Given the description of an element on the screen output the (x, y) to click on. 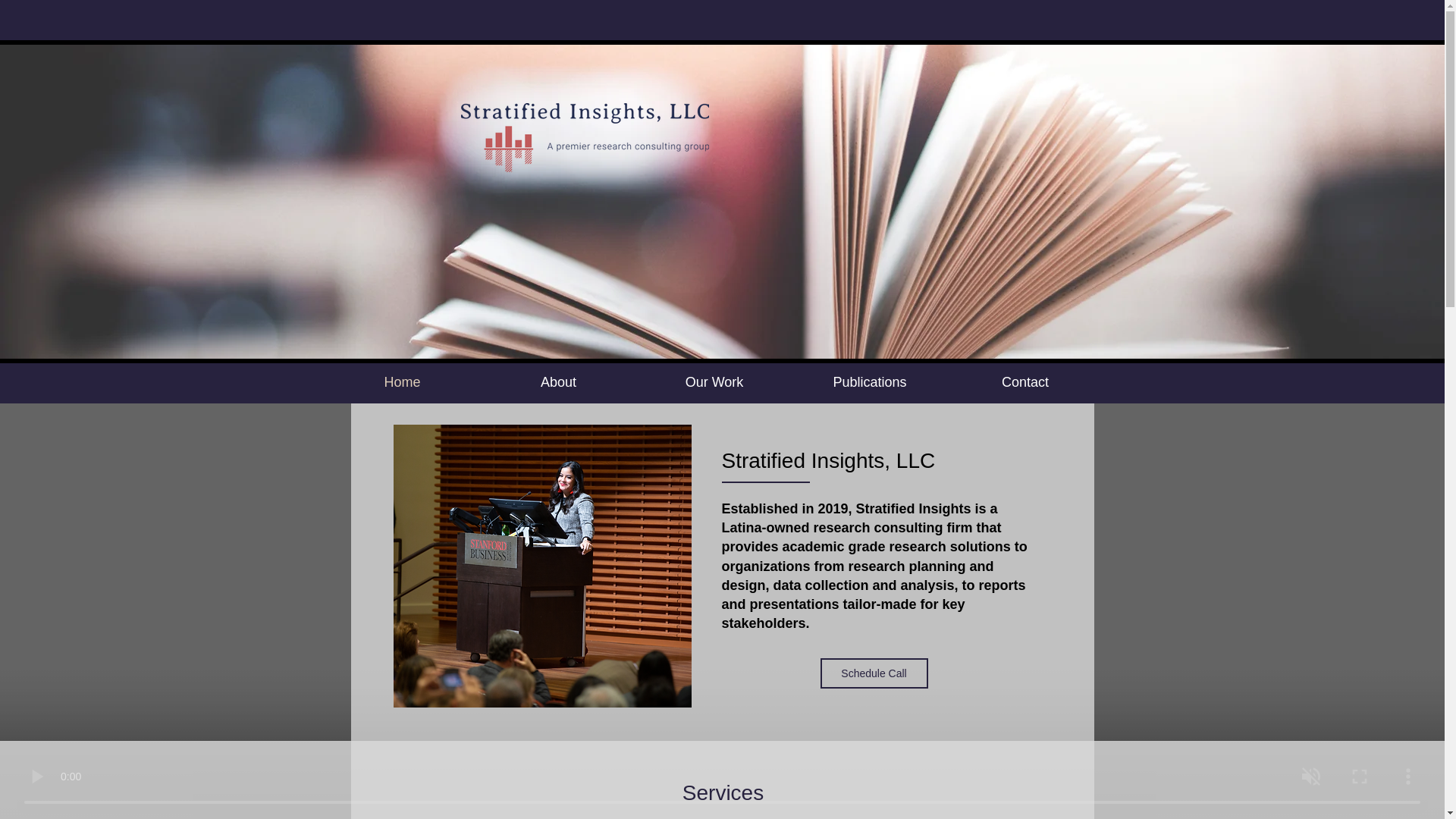
Schedule Call (874, 673)
About (558, 382)
Our Work (714, 382)
Publications (869, 382)
Home (402, 382)
Contact (1025, 382)
